Given the description of an element on the screen output the (x, y) to click on. 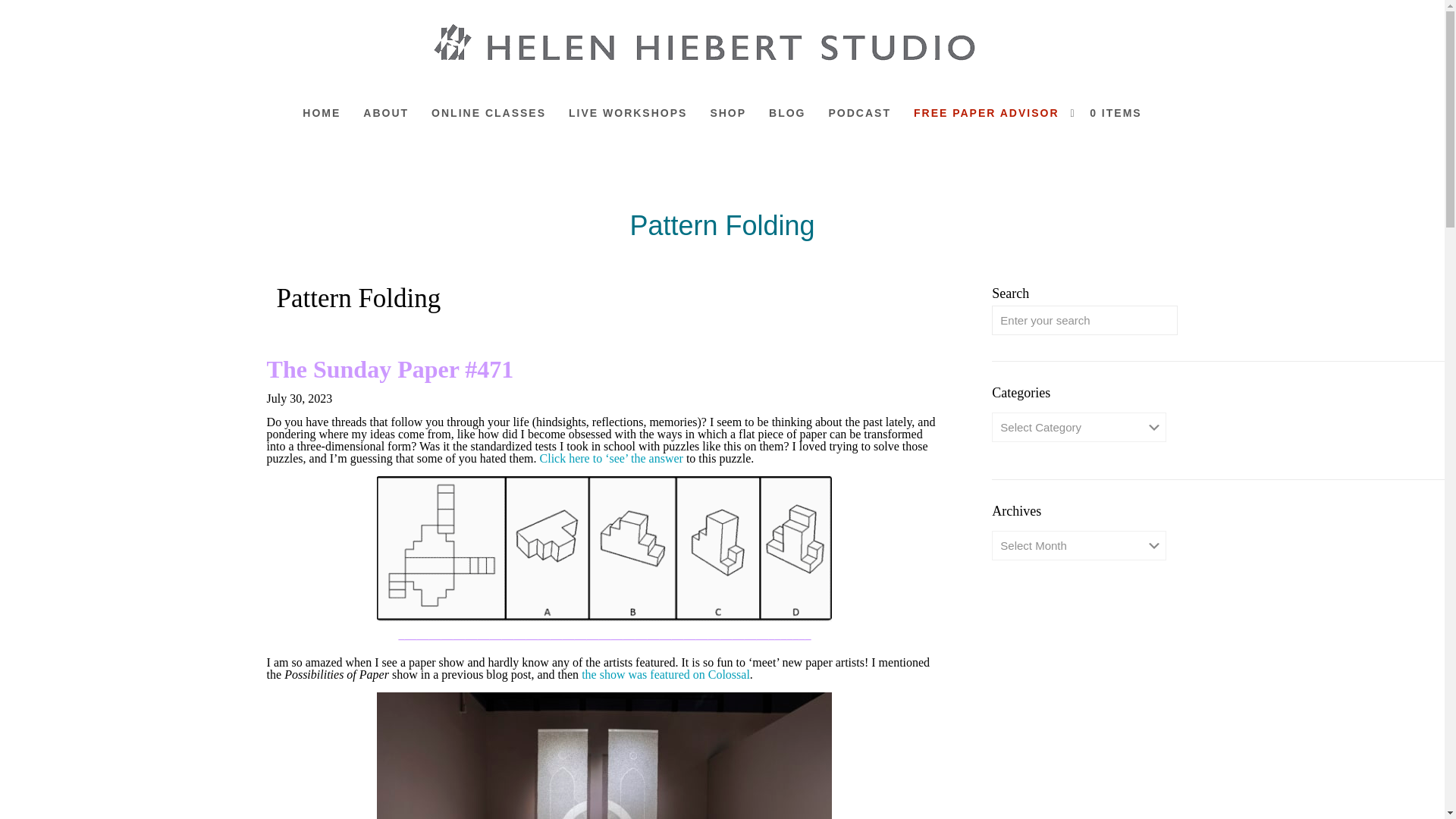
HOME (321, 112)
FREE PAPER ADVISOR (986, 112)
LIVE WORKSHOPS (627, 112)
PODCAST (859, 112)
BLOG (786, 112)
Helen Hiebert Studio (710, 45)
SHOP (727, 112)
ABOUT (386, 112)
0 ITEMS (1111, 112)
the show was featured on Colossal (664, 674)
